Given the description of an element on the screen output the (x, y) to click on. 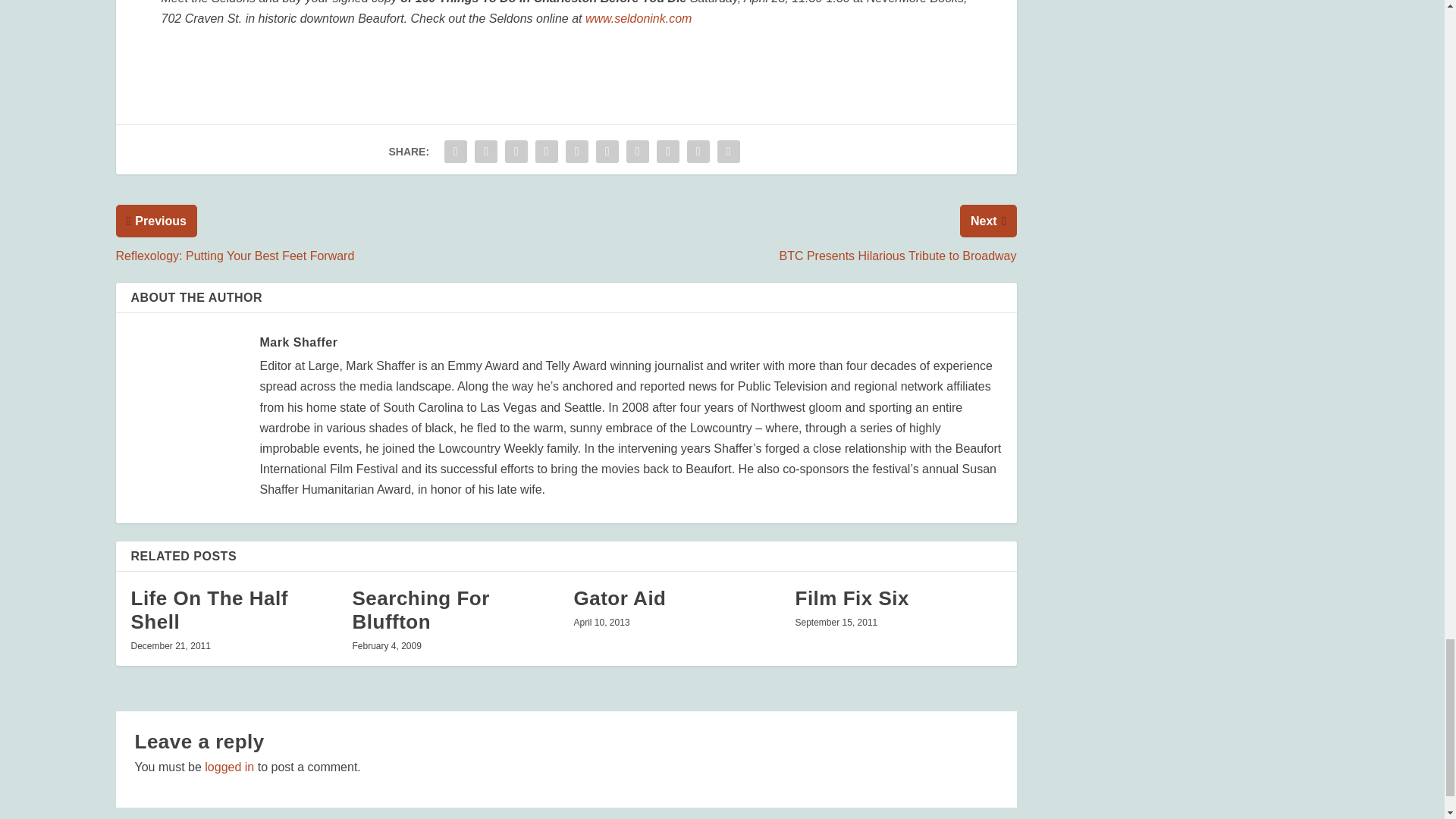
Share "The Holy City Bucket List" via Pinterest (577, 151)
www.seldonink.com (639, 18)
Share "The Holy City Bucket List" via Tumblr (546, 151)
Share "The Holy City Bucket List" via Buffer (637, 151)
Share "The Holy City Bucket List" via LinkedIn (607, 151)
Share "The Holy City Bucket List" via Facebook (455, 151)
Share "The Holy City Bucket List" via Twitter (485, 151)
Share "The Holy City Bucket List" via Email (697, 151)
Share "The Holy City Bucket List" via Stumbleupon (667, 151)
Share "The Holy City Bucket List" via Print (728, 151)
